Given the description of an element on the screen output the (x, y) to click on. 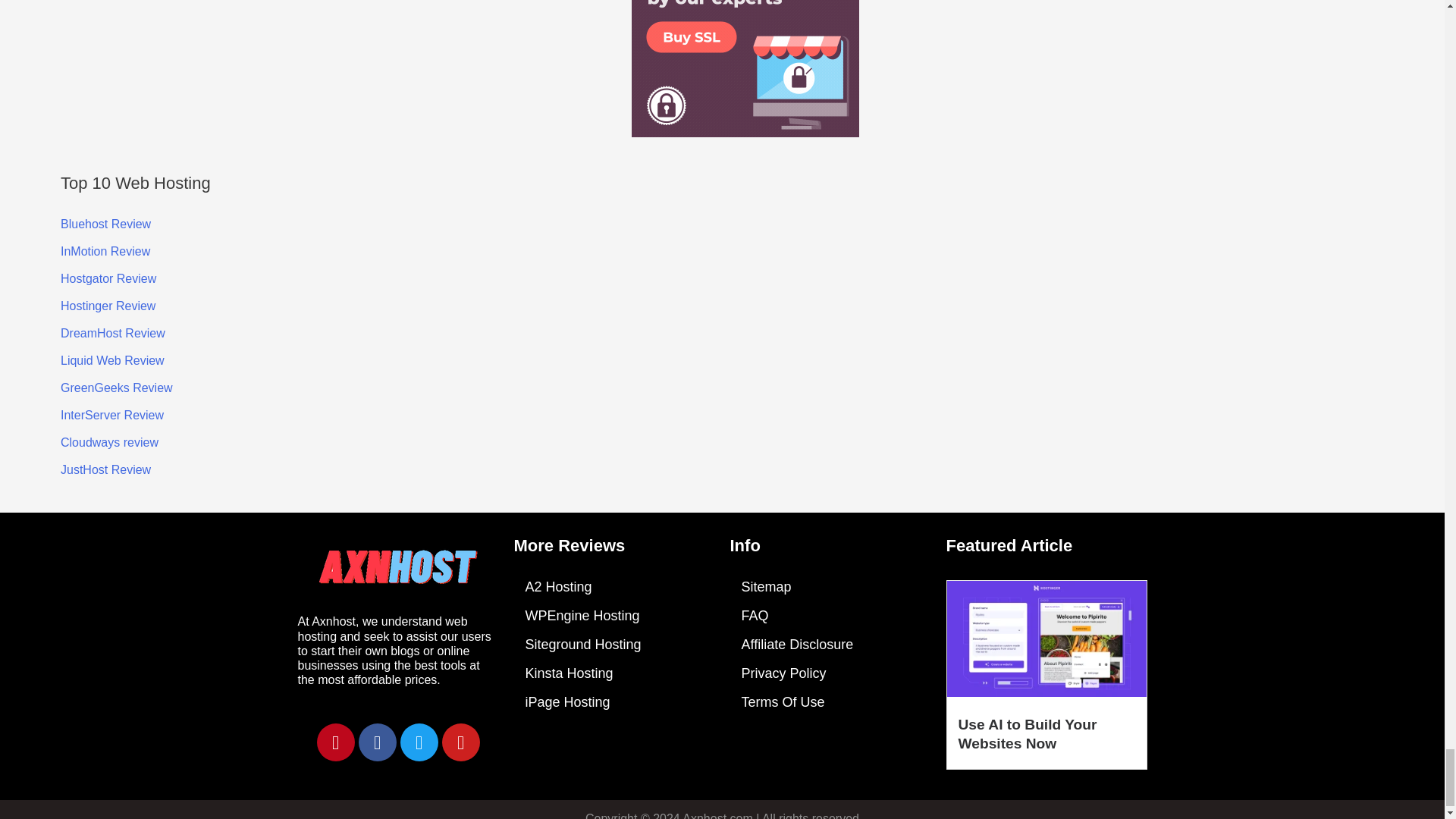
Use AI to Build Your Websites Now (1027, 733)
